Given the description of an element on the screen output the (x, y) to click on. 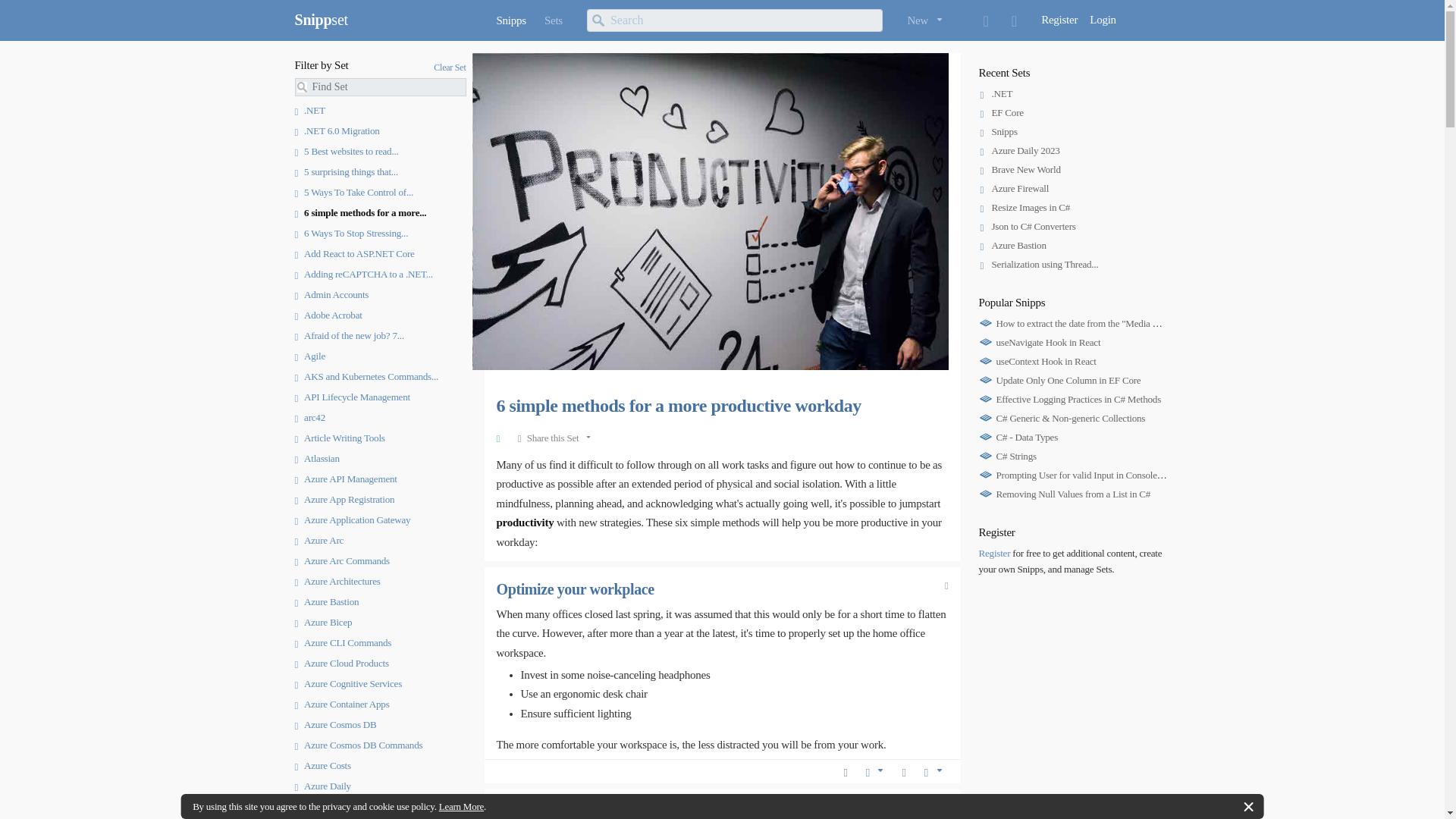
Article Writing Tools (339, 437)
Add React to ASP.NET Core (353, 253)
Atlassian (316, 458)
Azure API Management (345, 478)
Azure Application Gateway (352, 519)
arc42 (309, 417)
Admin Accounts (331, 294)
Azure App Registration (344, 499)
API Lifecycle Management (351, 396)
.NET 6.0 Migration (336, 130)
Snippset (320, 19)
Adobe Acrobat (327, 315)
Add React to ASP.NET Core (353, 253)
Sets (553, 19)
Agile (309, 355)
